Given the description of an element on the screen output the (x, y) to click on. 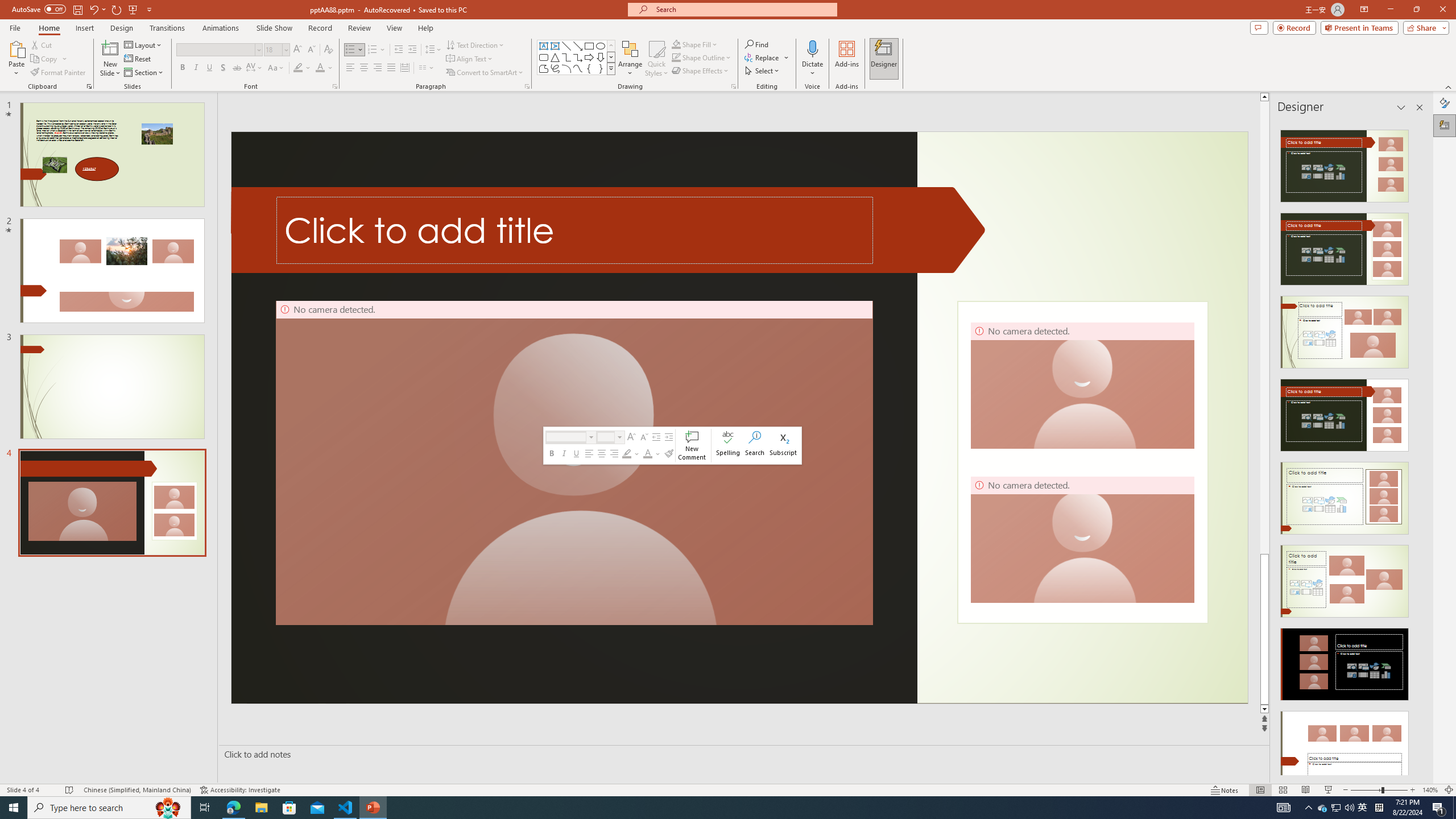
Shape Outline Teal, Accent 1 (675, 56)
Class: NetUITextbox (605, 436)
